Given the description of an element on the screen output the (x, y) to click on. 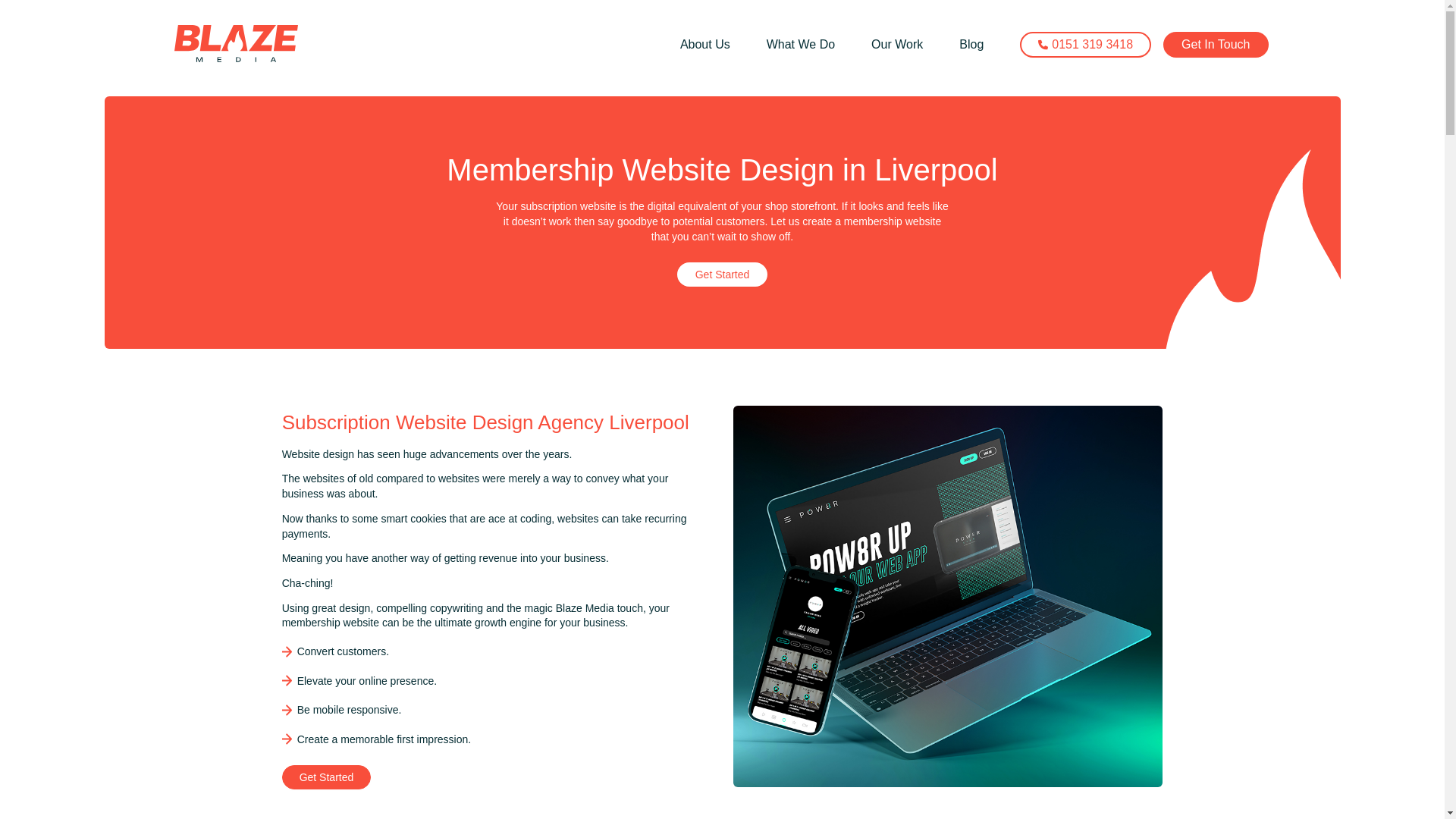
Get Started (326, 776)
Get Started (722, 274)
About Us (704, 44)
What We Do (800, 44)
Blog (971, 44)
0151 319 3418 (1085, 44)
Get In Touch (1215, 44)
Our Work (896, 44)
